Given the description of an element on the screen output the (x, y) to click on. 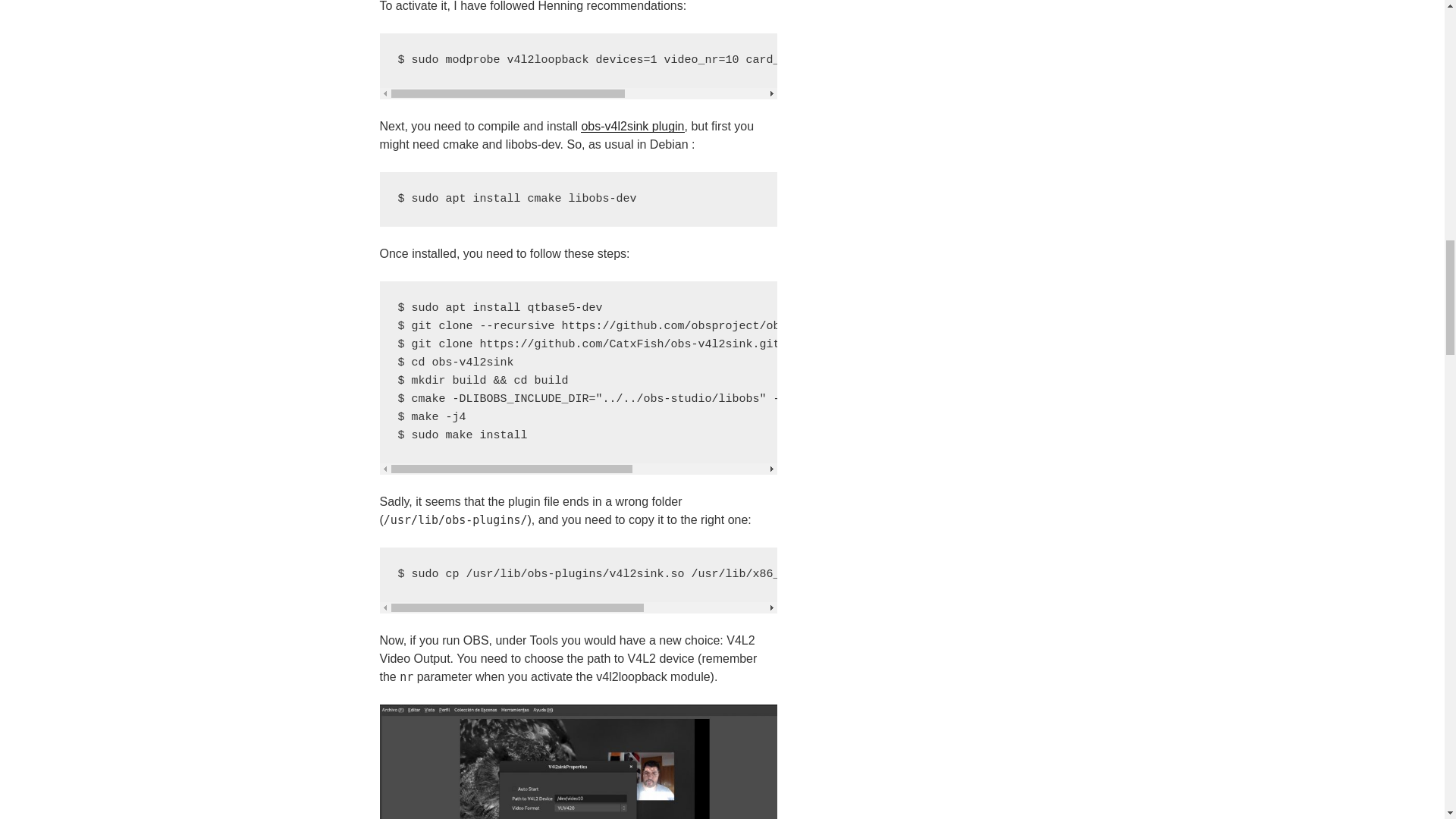
obs-v4l2sink plugin (632, 125)
